Given the description of an element on the screen output the (x, y) to click on. 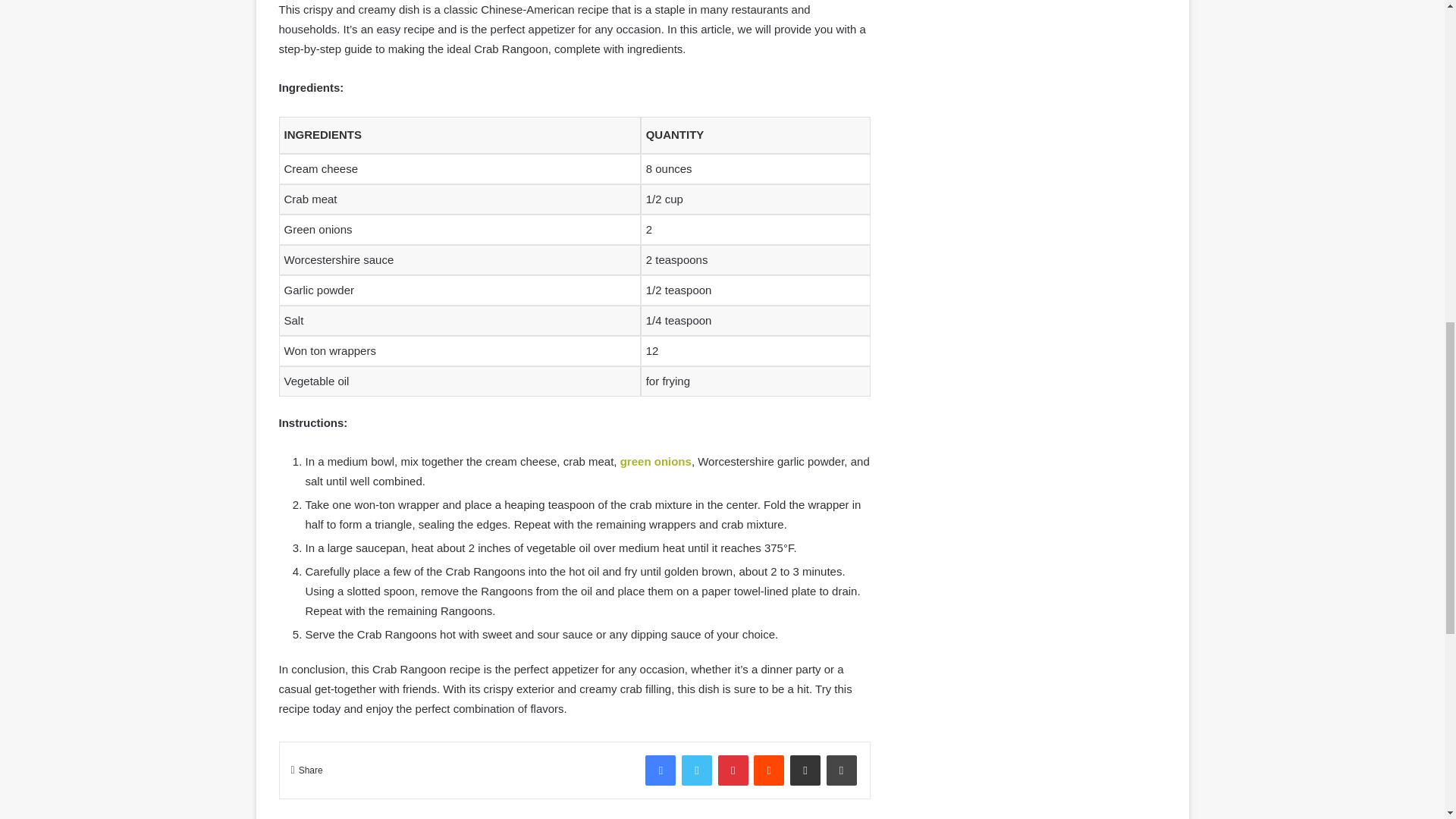
green onions (655, 461)
